Given the description of an element on the screen output the (x, y) to click on. 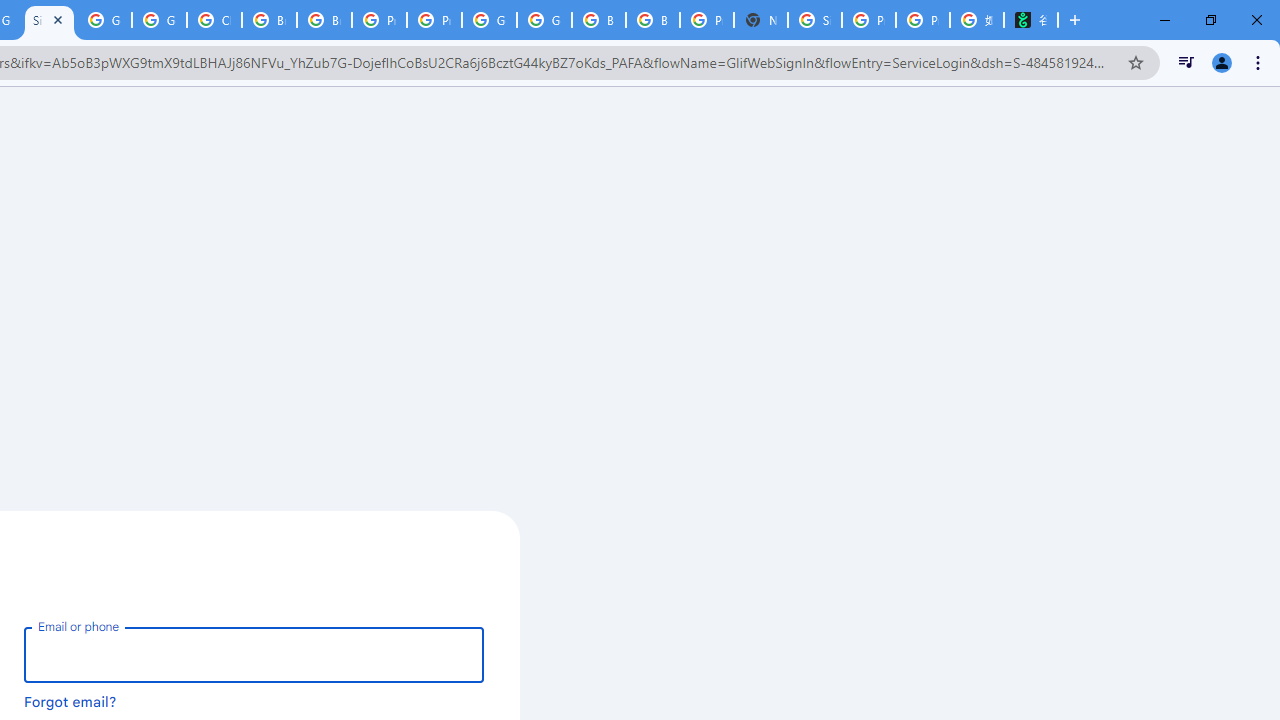
New Tab (760, 20)
Google Cloud Platform (103, 20)
Google Cloud Platform (544, 20)
